Given the description of an element on the screen output the (x, y) to click on. 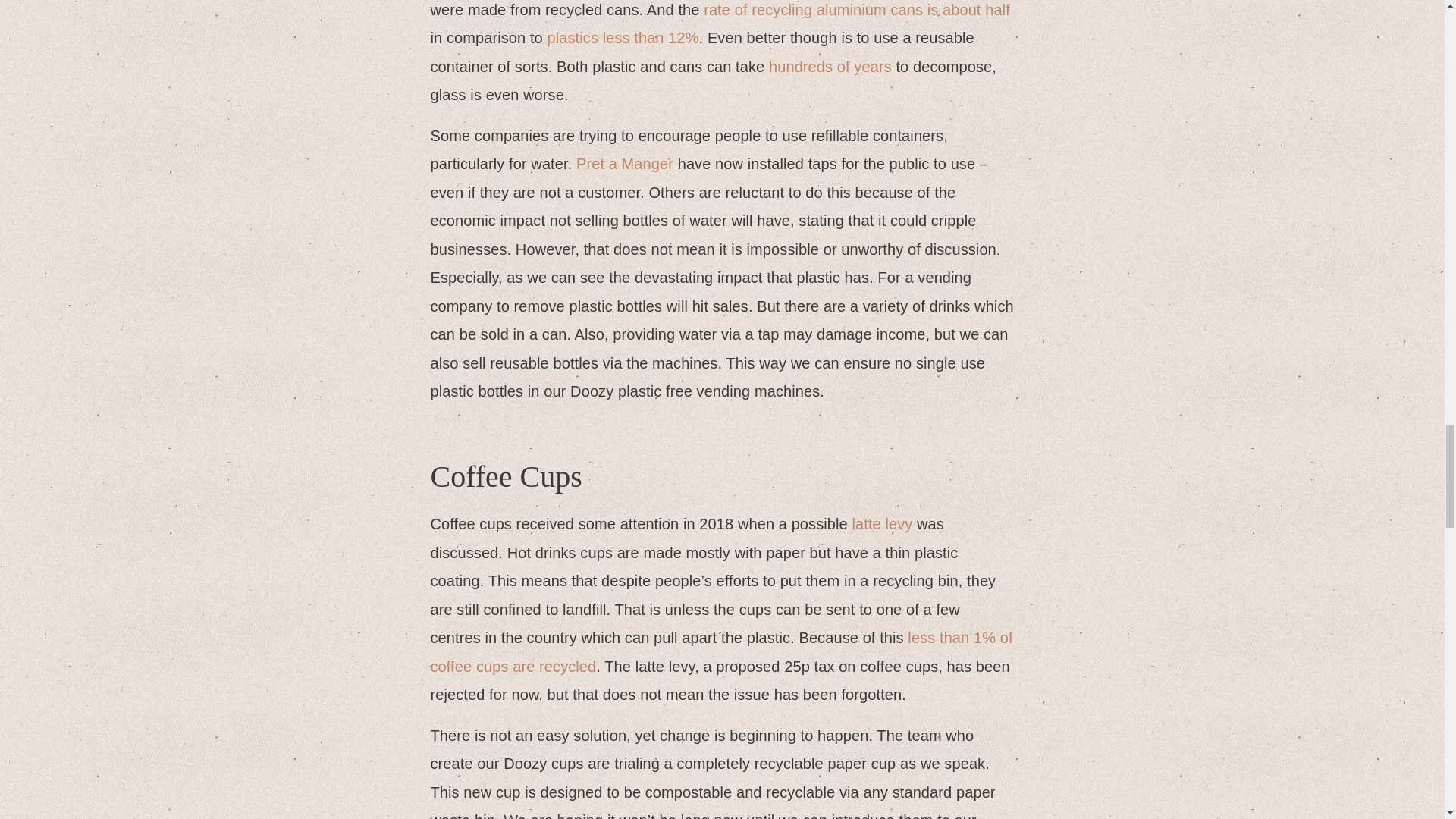
rate of recycling aluminium cans is about half (856, 9)
hundreds of years (829, 66)
latte levy (881, 523)
Pret a Manger (624, 163)
